Given the description of an element on the screen output the (x, y) to click on. 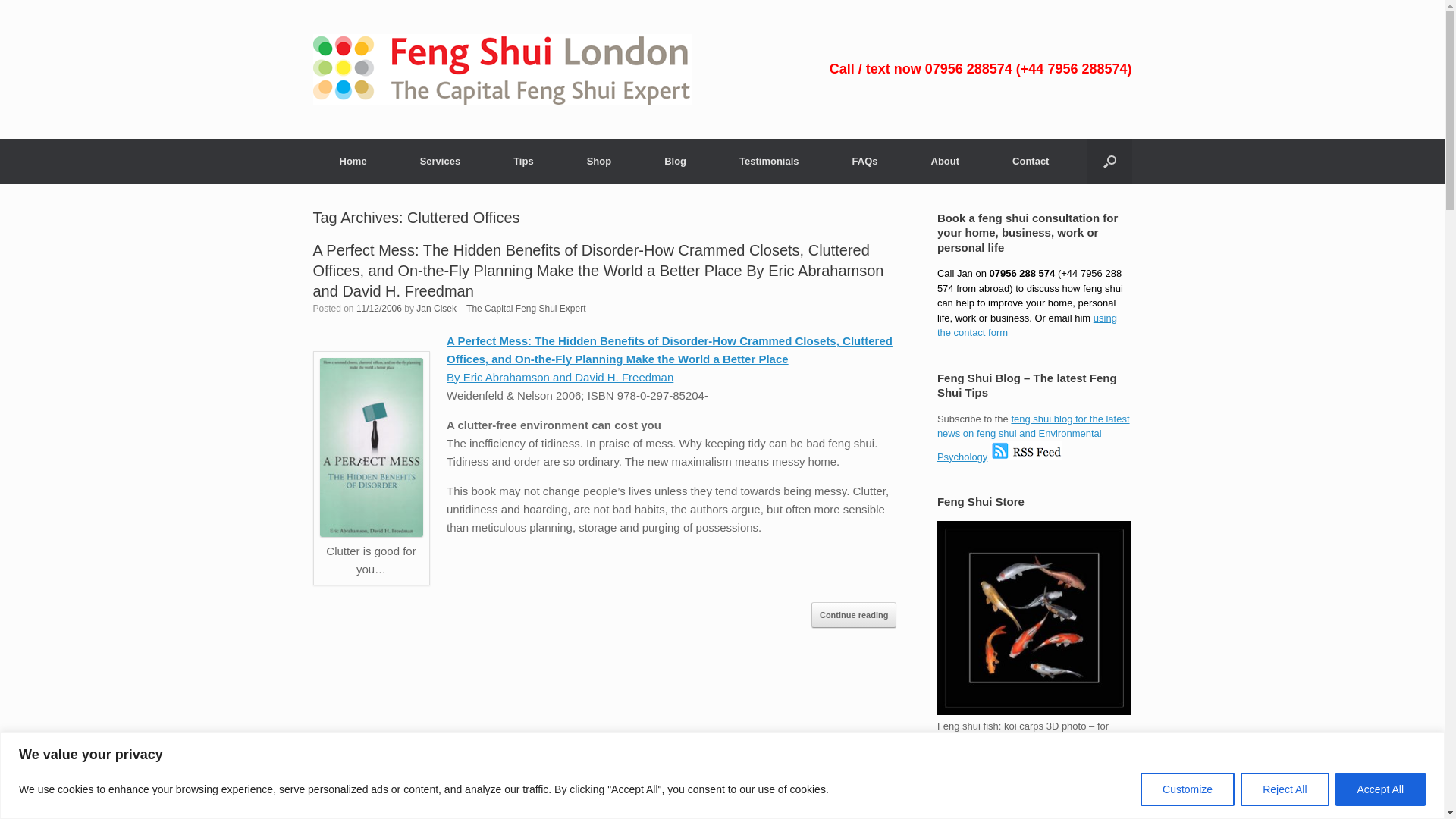
About (944, 161)
RSS FEED - Subscribe  (1026, 455)
Tips (523, 161)
Accept All (1380, 788)
Reject All (1283, 788)
Testimonials (769, 161)
Blog (1033, 436)
Customize (1187, 788)
FAQs (864, 161)
11:26 pm (378, 308)
Blog (675, 161)
Shop (599, 161)
Services (440, 161)
Contact (1026, 325)
Home (353, 161)
